Given the description of an element on the screen output the (x, y) to click on. 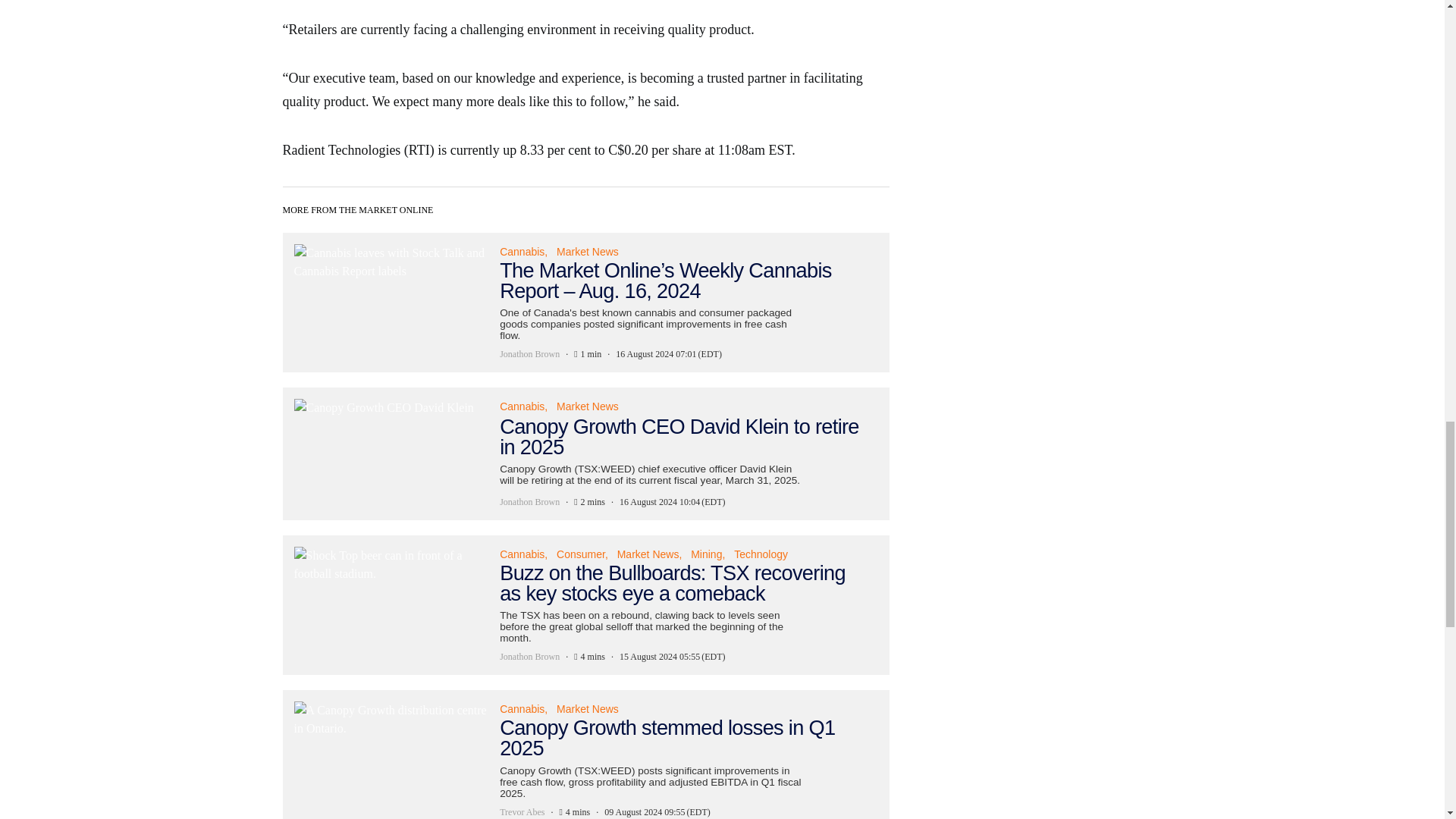
View all posts by Jonathon Brown (529, 501)
View all posts by Jonathon Brown (529, 656)
Canopy Growth CEO David Klein to retire in 2025 (585, 453)
View all posts by Jonathon Brown (529, 354)
Canopy Growth stemmed  losses in Q1 2025 (585, 754)
View all posts by Trevor Abes (521, 812)
